Given the description of an element on the screen output the (x, y) to click on. 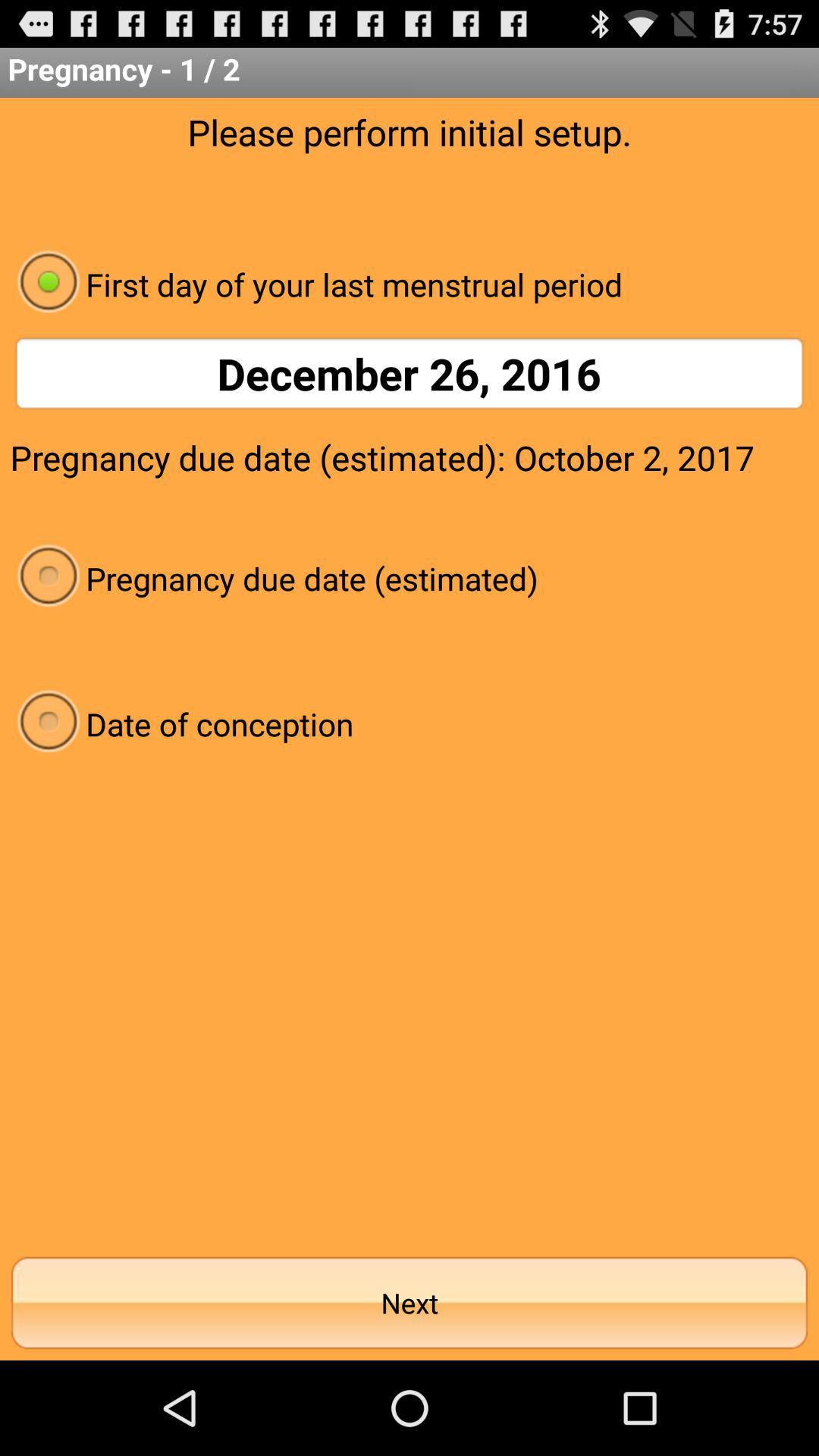
jump until first day of radio button (409, 284)
